Given the description of an element on the screen output the (x, y) to click on. 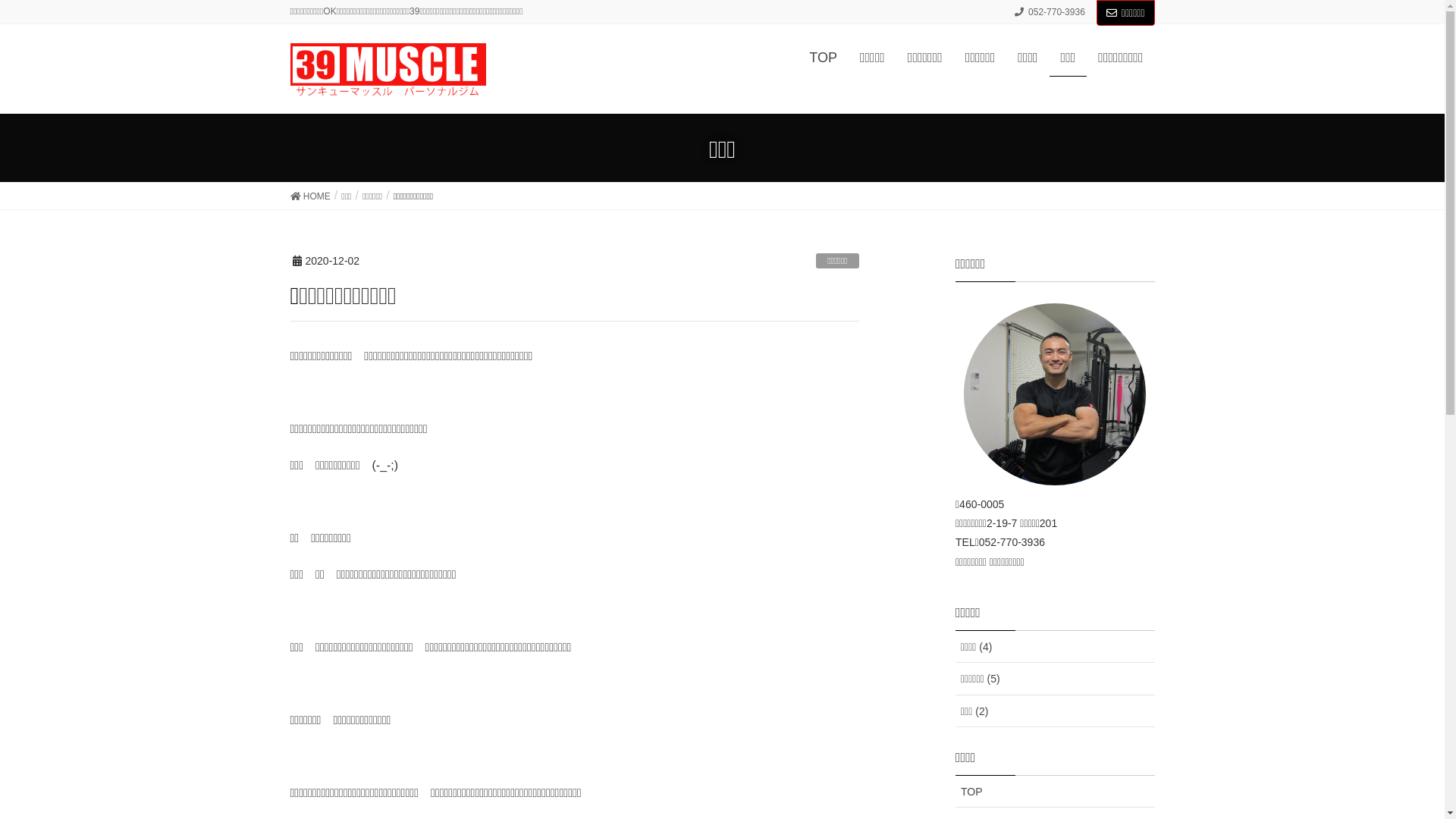
HOME Element type: text (309, 195)
TOP Element type: text (1054, 791)
TOP Element type: text (822, 58)
